Given the description of an element on the screen output the (x, y) to click on. 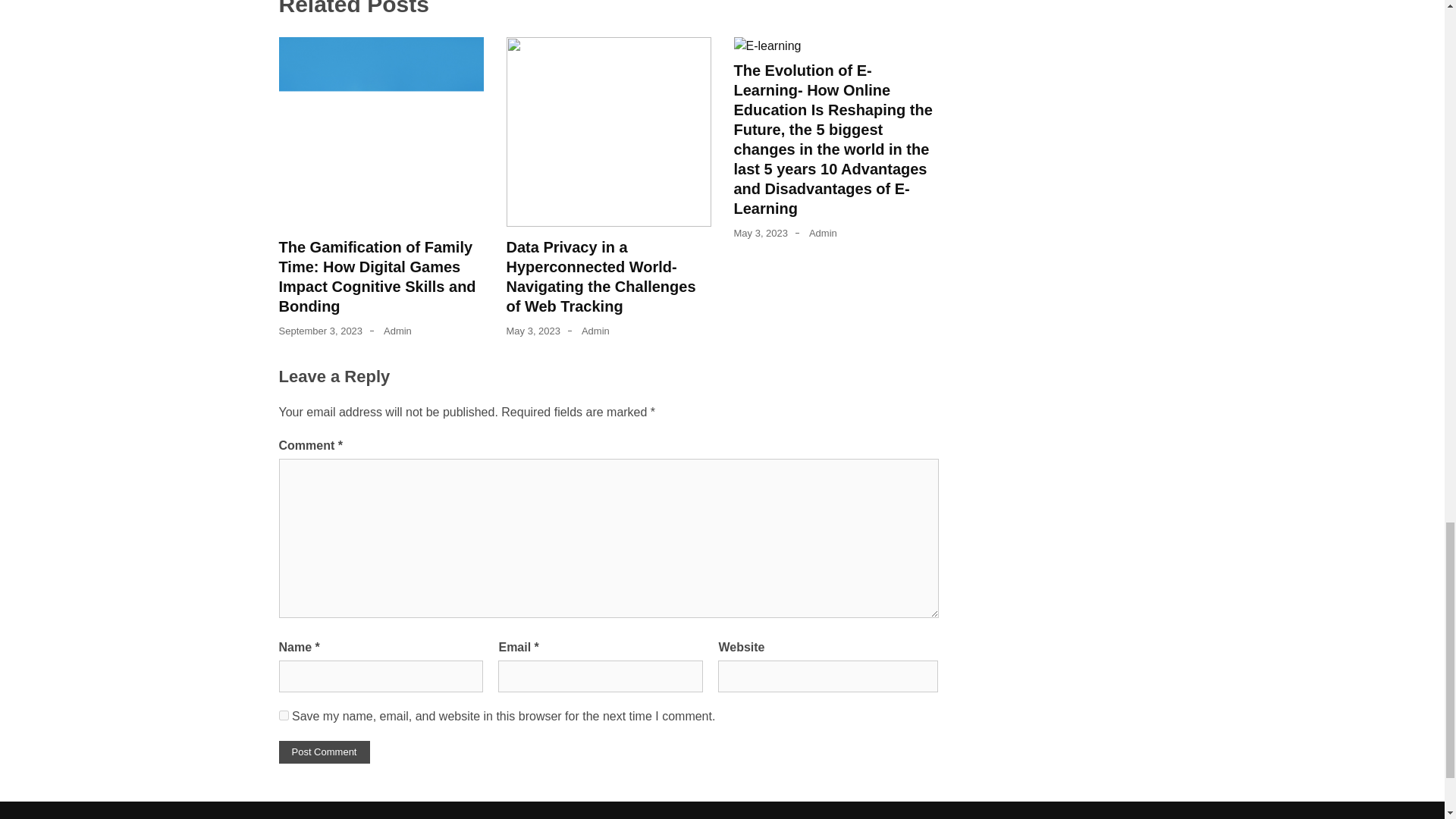
Post Comment (324, 752)
yes (283, 715)
